Given the description of an element on the screen output the (x, y) to click on. 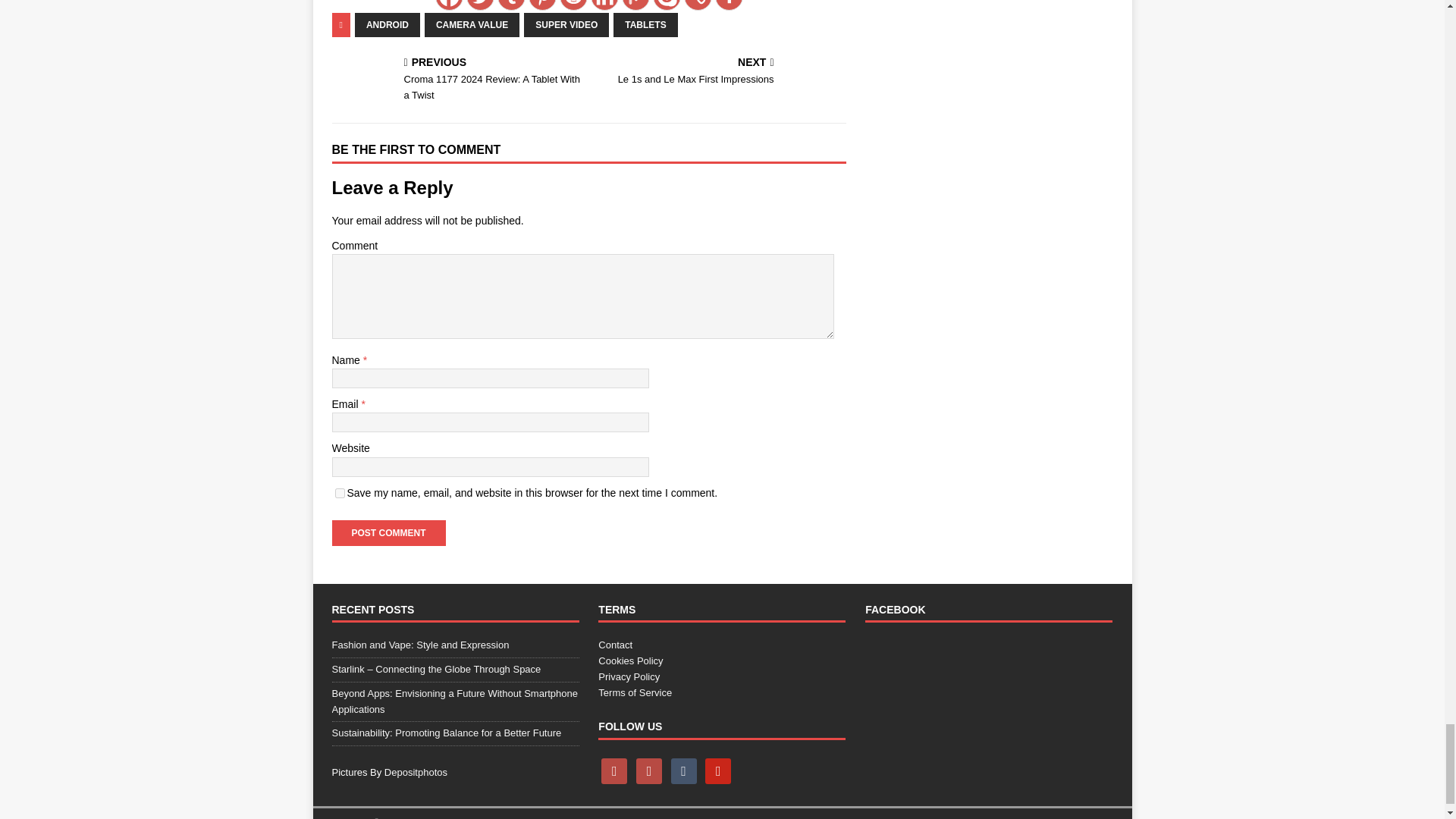
yes (339, 492)
CAMERA VALUE (472, 24)
ANDROID (387, 24)
SUPER VIDEO (566, 24)
Post Comment (388, 533)
